Given the description of an element on the screen output the (x, y) to click on. 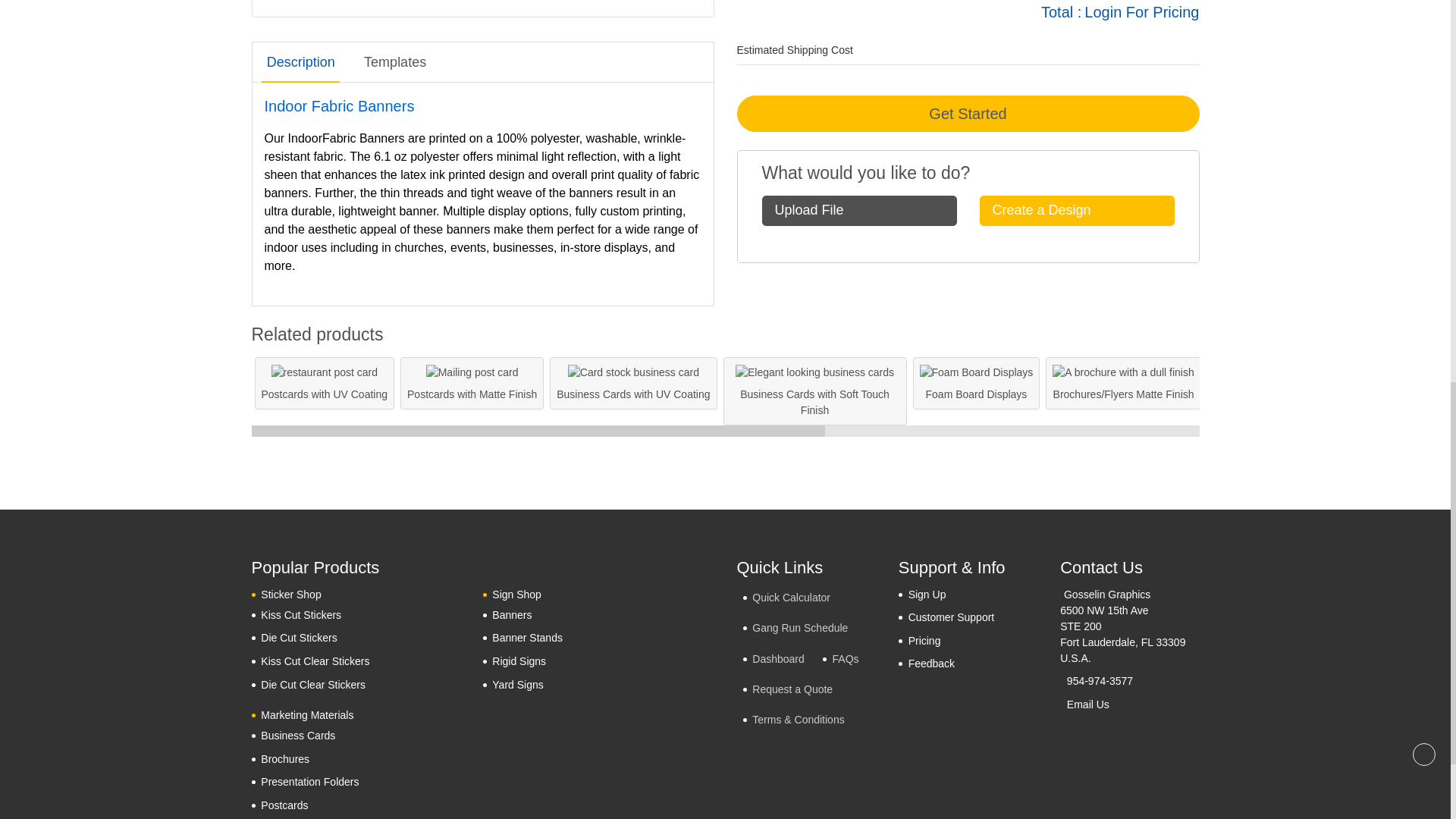
Postcards with Matte Finish (472, 372)
Indoor Fabric Banners (482, 8)
Sign Up (922, 593)
Postcards with UV Coating (324, 372)
Customer Support (946, 617)
Business Cards with Soft Touch Finish (814, 372)
Foam Board Displays (976, 372)
Business Cards with UV Coating (632, 372)
